Given the description of an element on the screen output the (x, y) to click on. 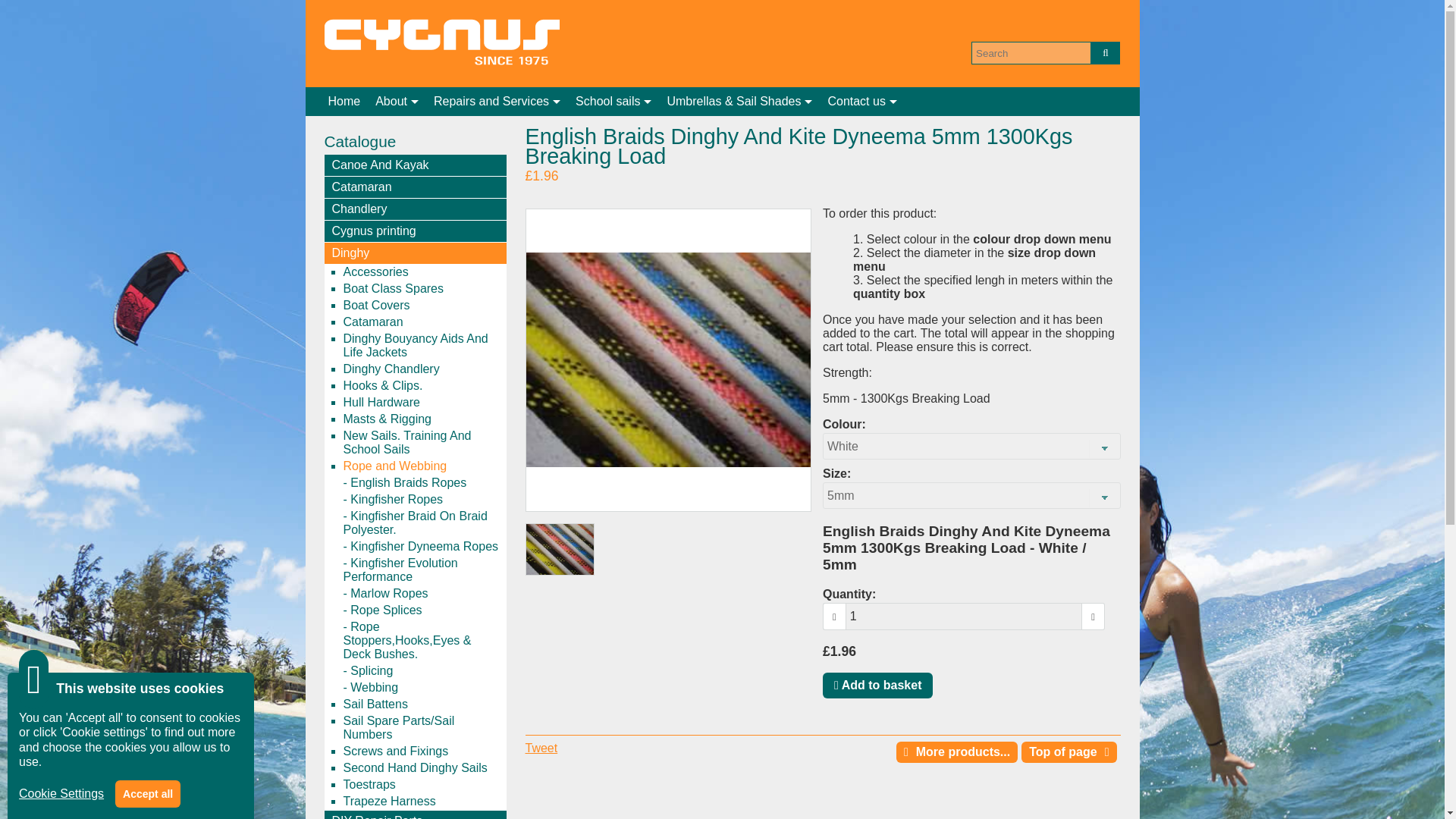
Catamaran (415, 187)
Catamaran (423, 321)
Boat Covers (423, 305)
Accessories (423, 271)
Dinghy (415, 252)
Boat Class Spares (423, 288)
Cygnus printing (415, 230)
Dinghy Chandlery (423, 369)
1 (964, 615)
Dinghy Bouyancy Aids And Life Jackets (423, 345)
New Sails. Training And School Sails (423, 442)
Chandlery (415, 209)
Hull Hardware (423, 402)
English Braids Ropes (423, 483)
